Given the description of an element on the screen output the (x, y) to click on. 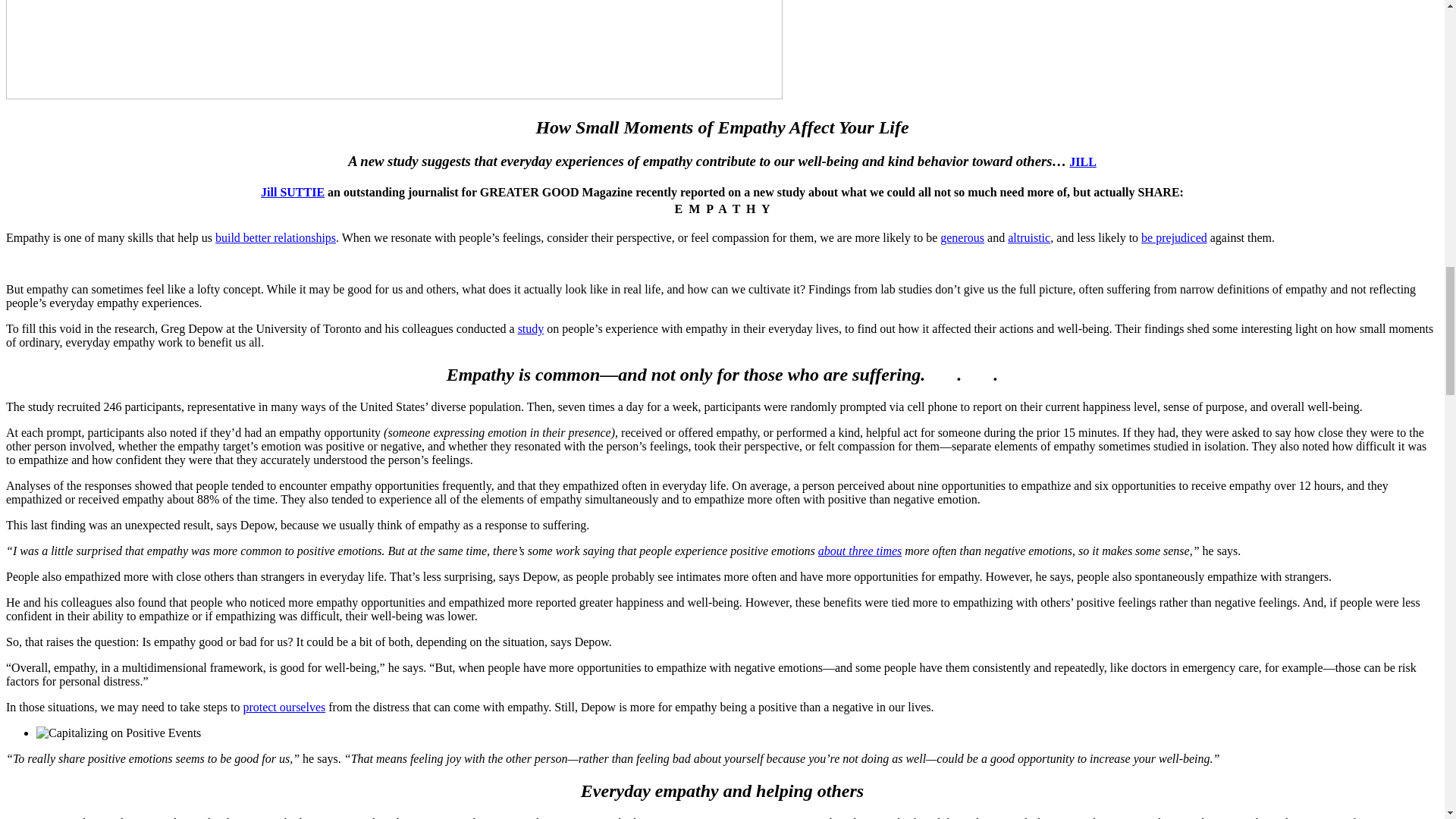
about three times (860, 550)
be prejudiced (1174, 237)
study (531, 328)
altruistic (1028, 237)
generous (962, 237)
build better relationships (275, 237)
JILL (1082, 161)
Jill SUTTIE (292, 192)
protect ourselves (283, 707)
